Given the description of an element on the screen output the (x, y) to click on. 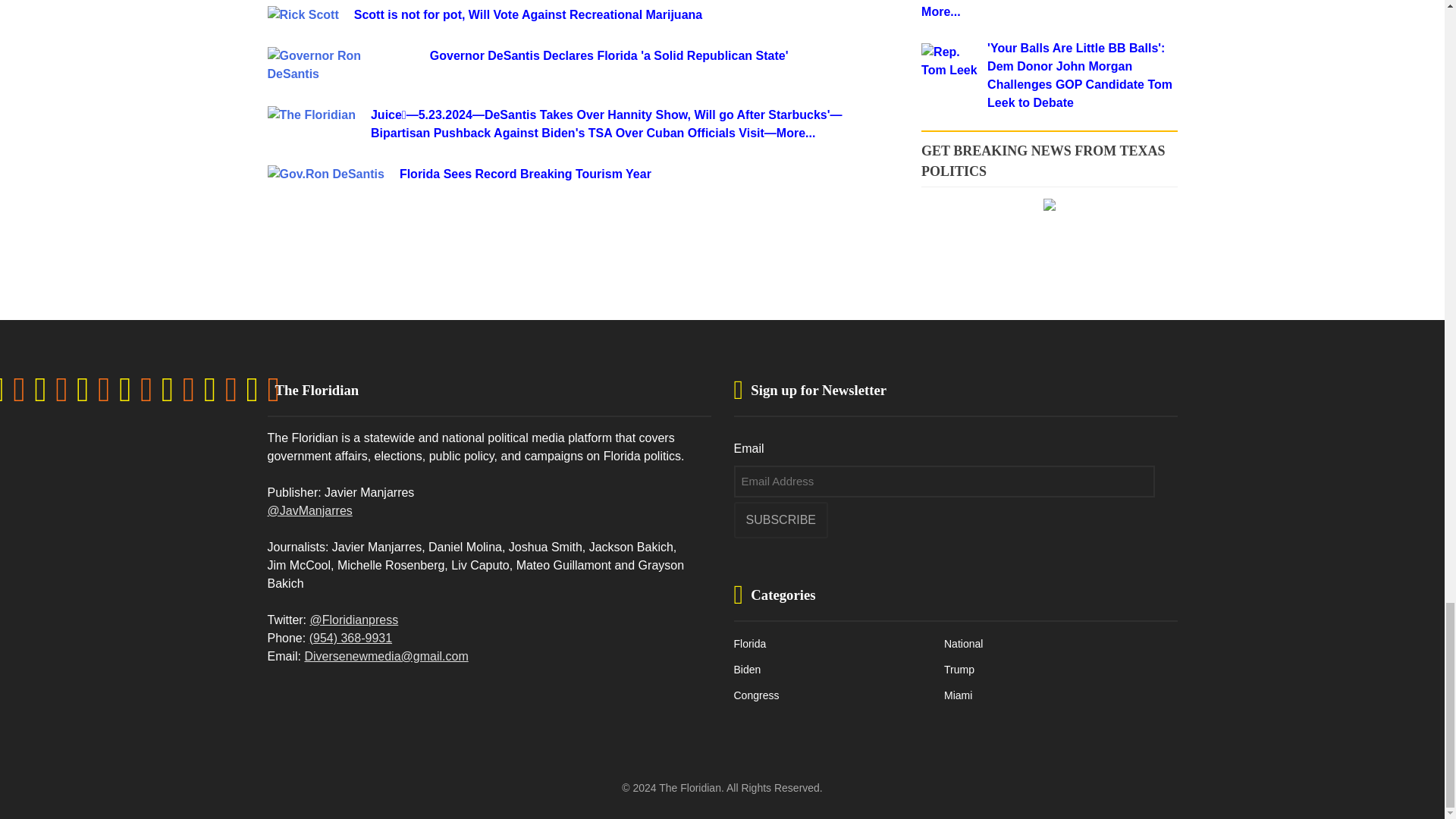
SUBSCRIBE (780, 520)
